Given the description of an element on the screen output the (x, y) to click on. 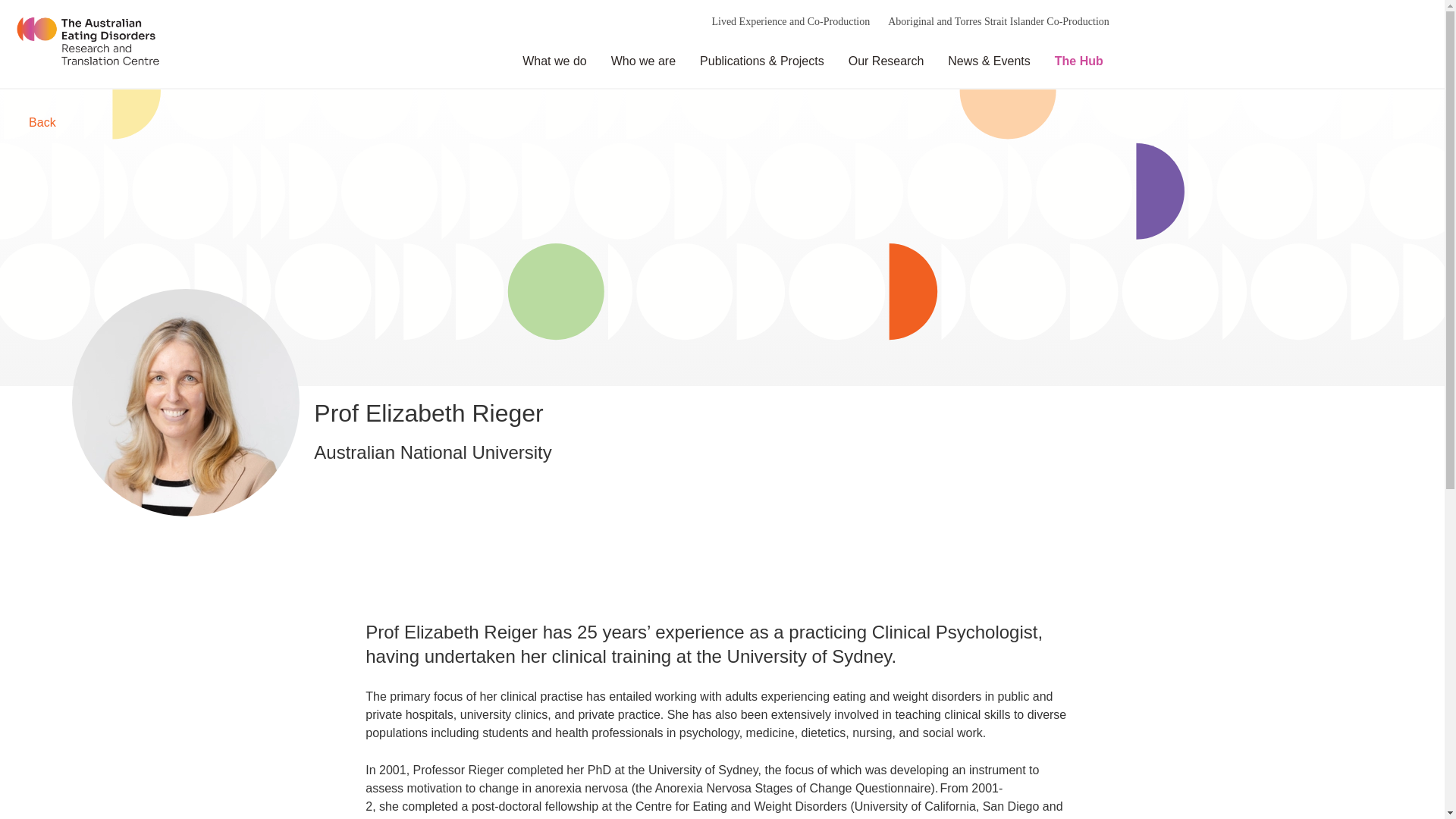
Back (42, 122)
What we do (549, 60)
Our Research (882, 60)
Logo (88, 43)
Who we are (638, 60)
The Hub (1074, 60)
